Given the description of an element on the screen output the (x, y) to click on. 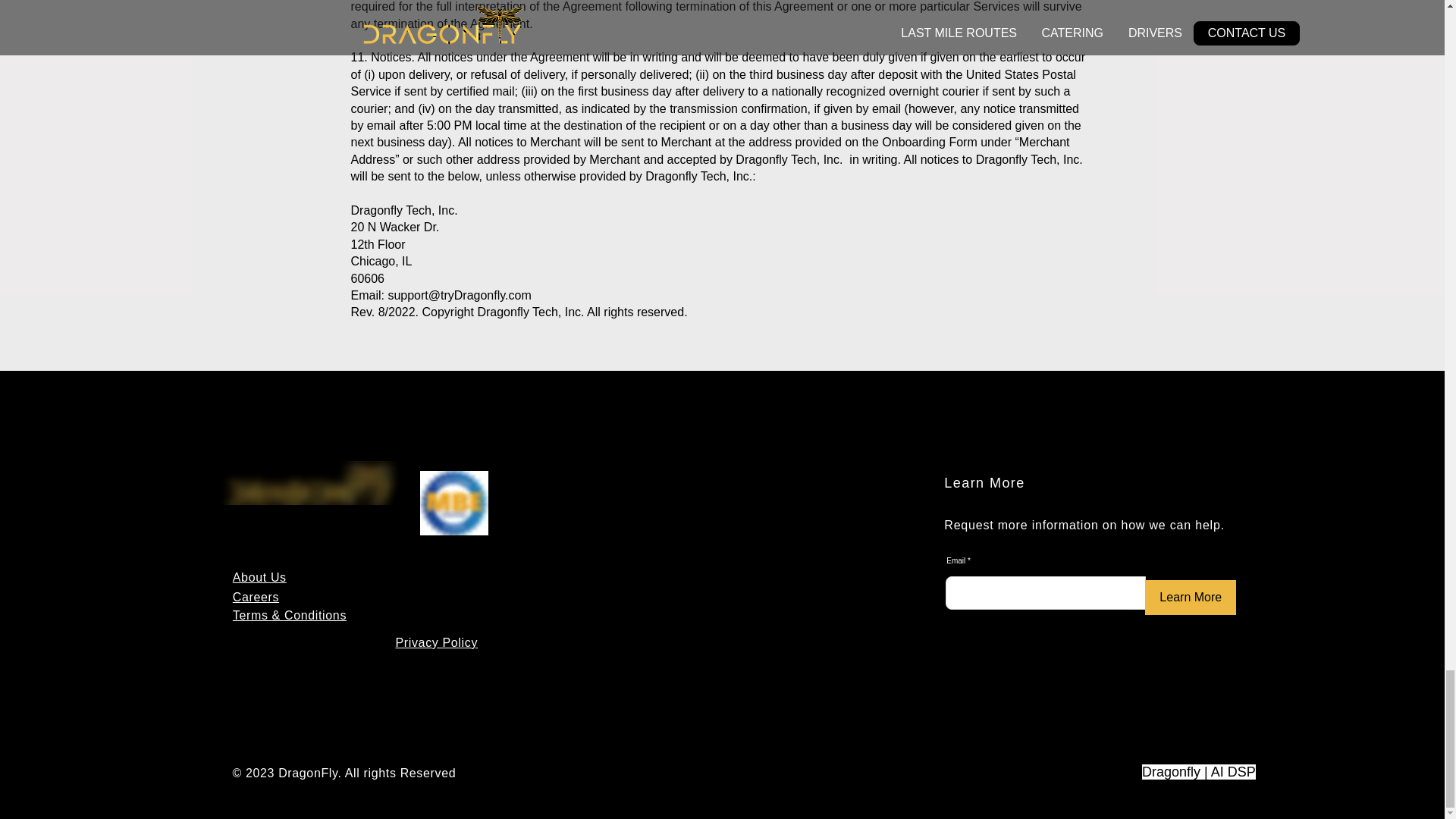
Learn More (1190, 597)
Privacy Policy (437, 642)
MBE Certified logo (453, 502)
About Us (259, 576)
Careers (255, 596)
no (311, 483)
